Given the description of an element on the screen output the (x, y) to click on. 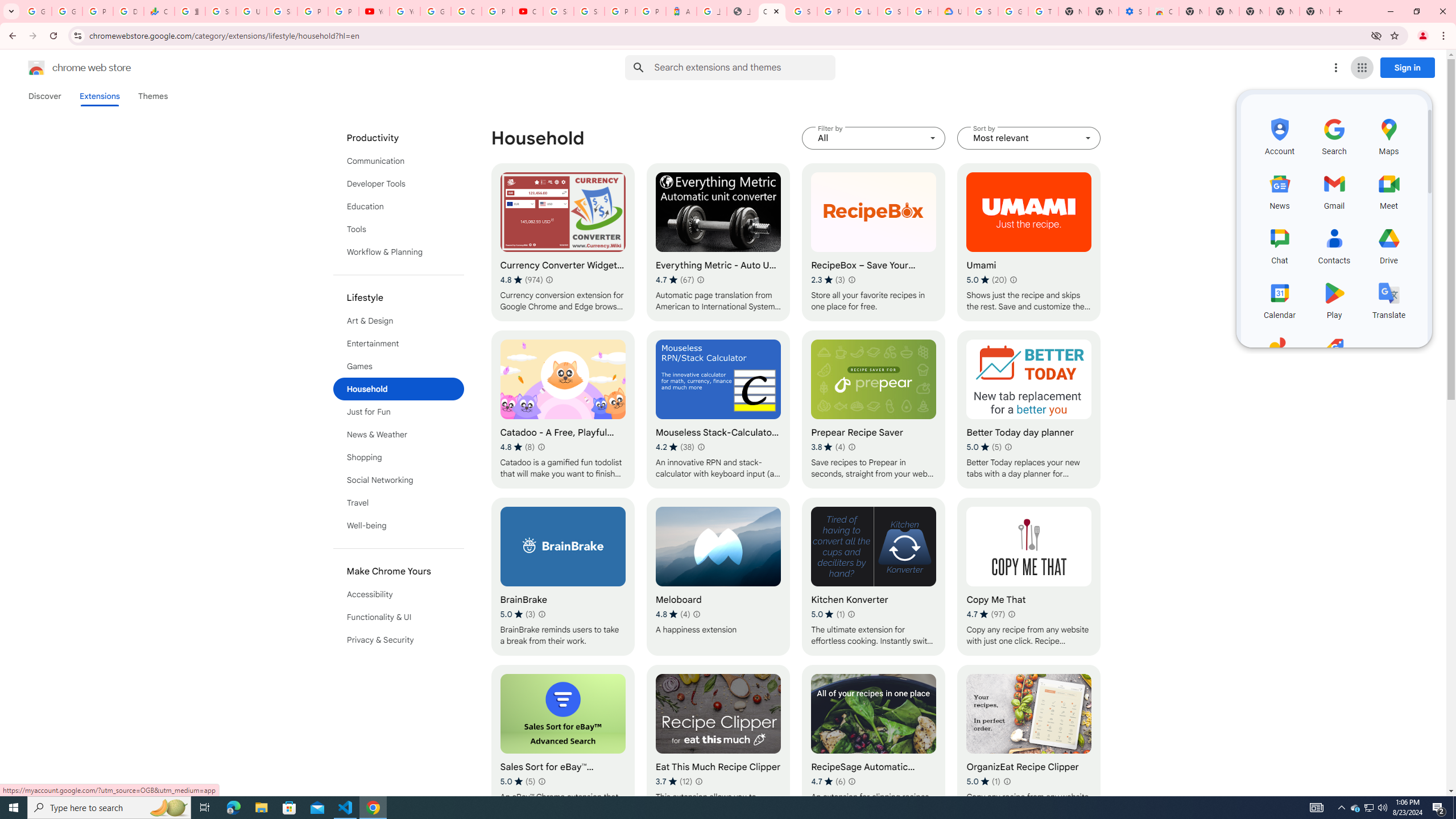
Average rating 4.8 out of 5 stars. 974 ratings. (521, 279)
Better Today day planner (1028, 409)
Everything Metric - Auto Unit Converter (718, 241)
Umami (1028, 241)
Average rating 2.3 out of 5 stars. 3 ratings. (827, 279)
Privacy & Security (398, 639)
New Tab (1193, 11)
Average rating 5 out of 5 stars. 20 ratings. (986, 279)
Accessibility (398, 594)
Extensions (99, 95)
Entertainment (398, 343)
